Given the description of an element on the screen output the (x, y) to click on. 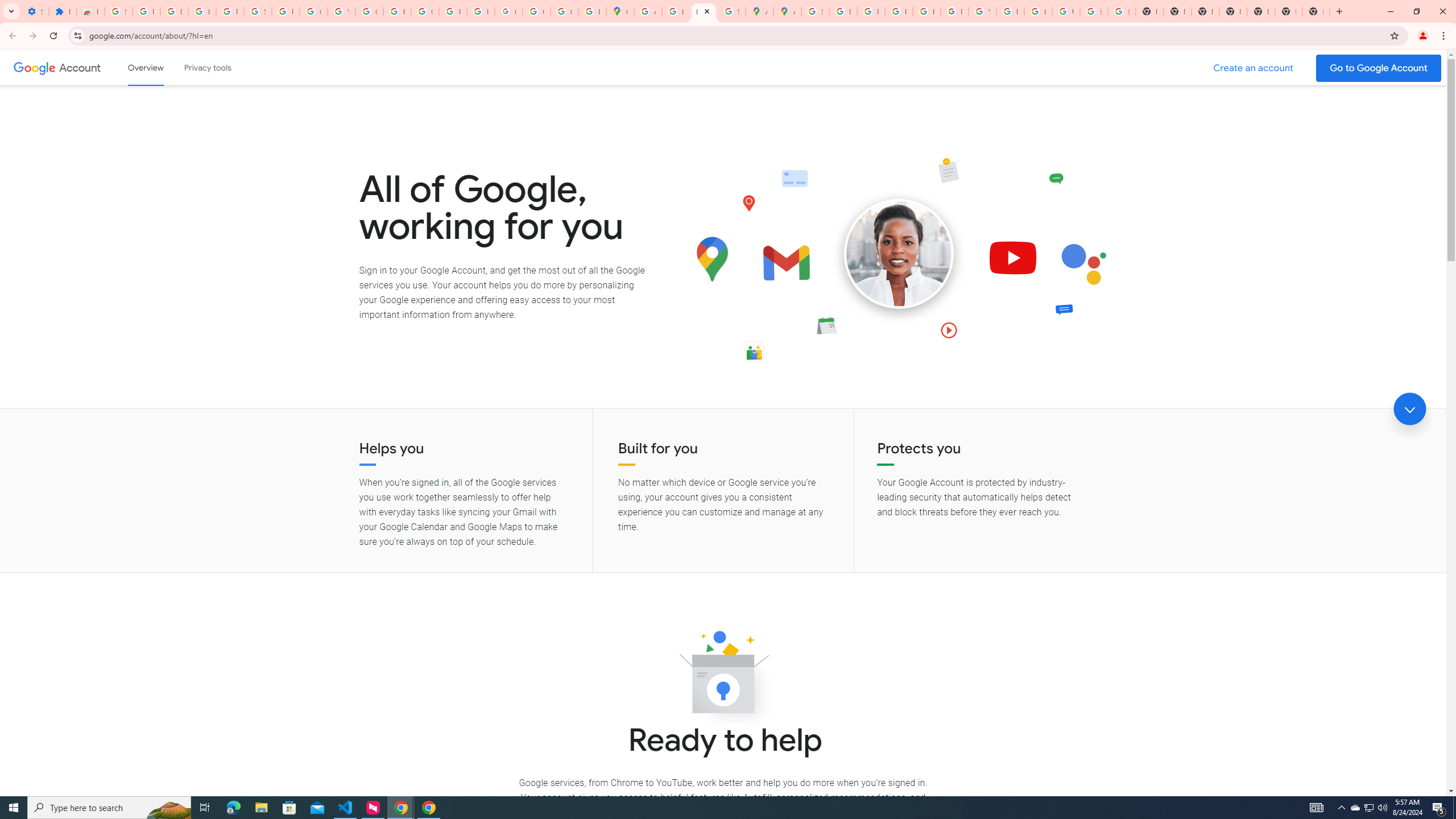
Safety in Our Products - Google Safety Center (731, 11)
YouTube (341, 11)
